Given the description of an element on the screen output the (x, y) to click on. 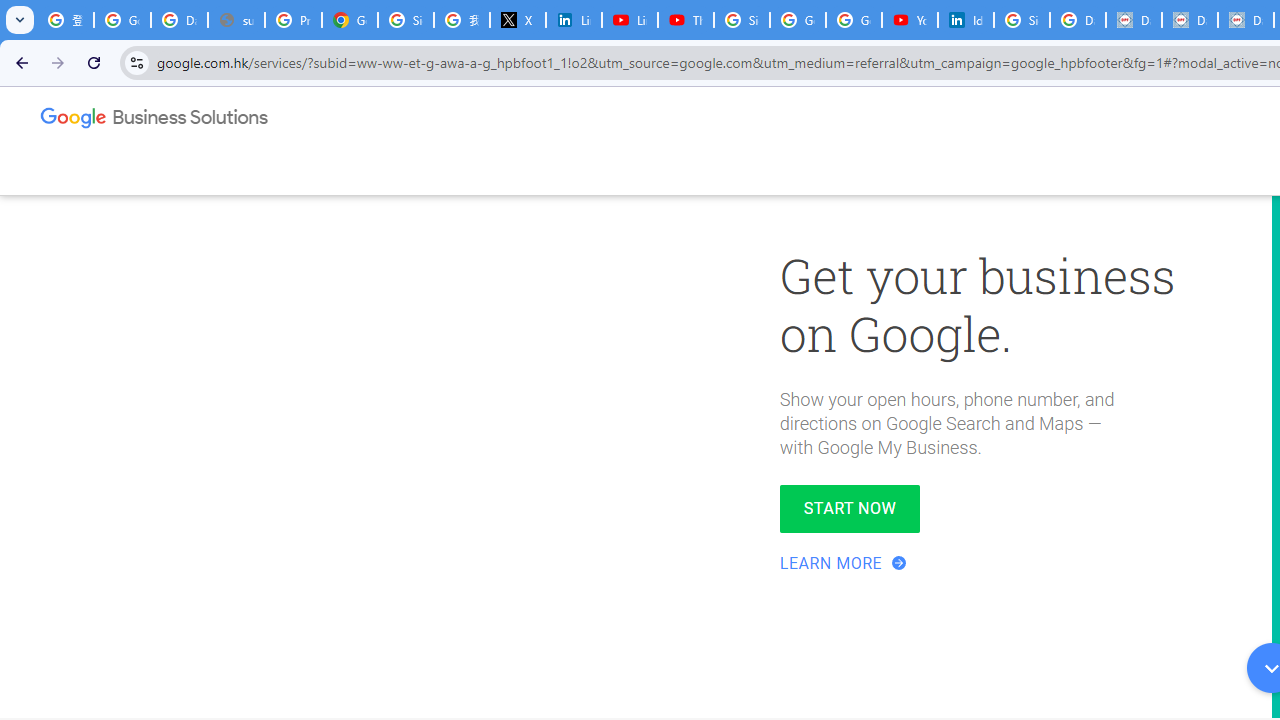
Sign in - Google Accounts (405, 20)
Google Business Solutions (155, 121)
LinkedIn - YouTube (629, 20)
X (518, 20)
Data Privacy Framework (1190, 20)
